Given the description of an element on the screen output the (x, y) to click on. 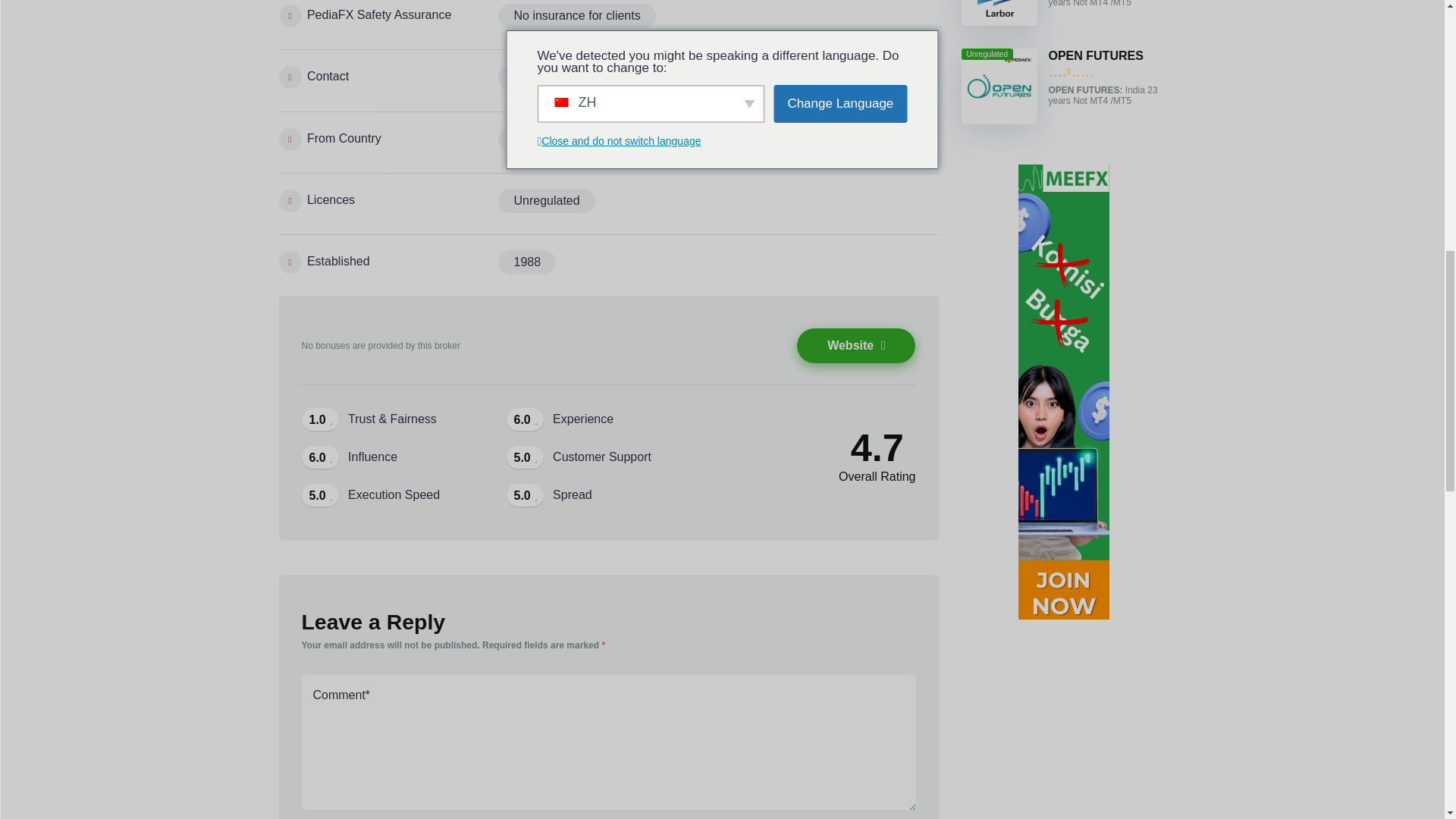
No insurance for clients (576, 15)
1988 (526, 262)
No insurance for clients (576, 15)
Unregulated (545, 200)
Website (855, 345)
